Given the description of an element on the screen output the (x, y) to click on. 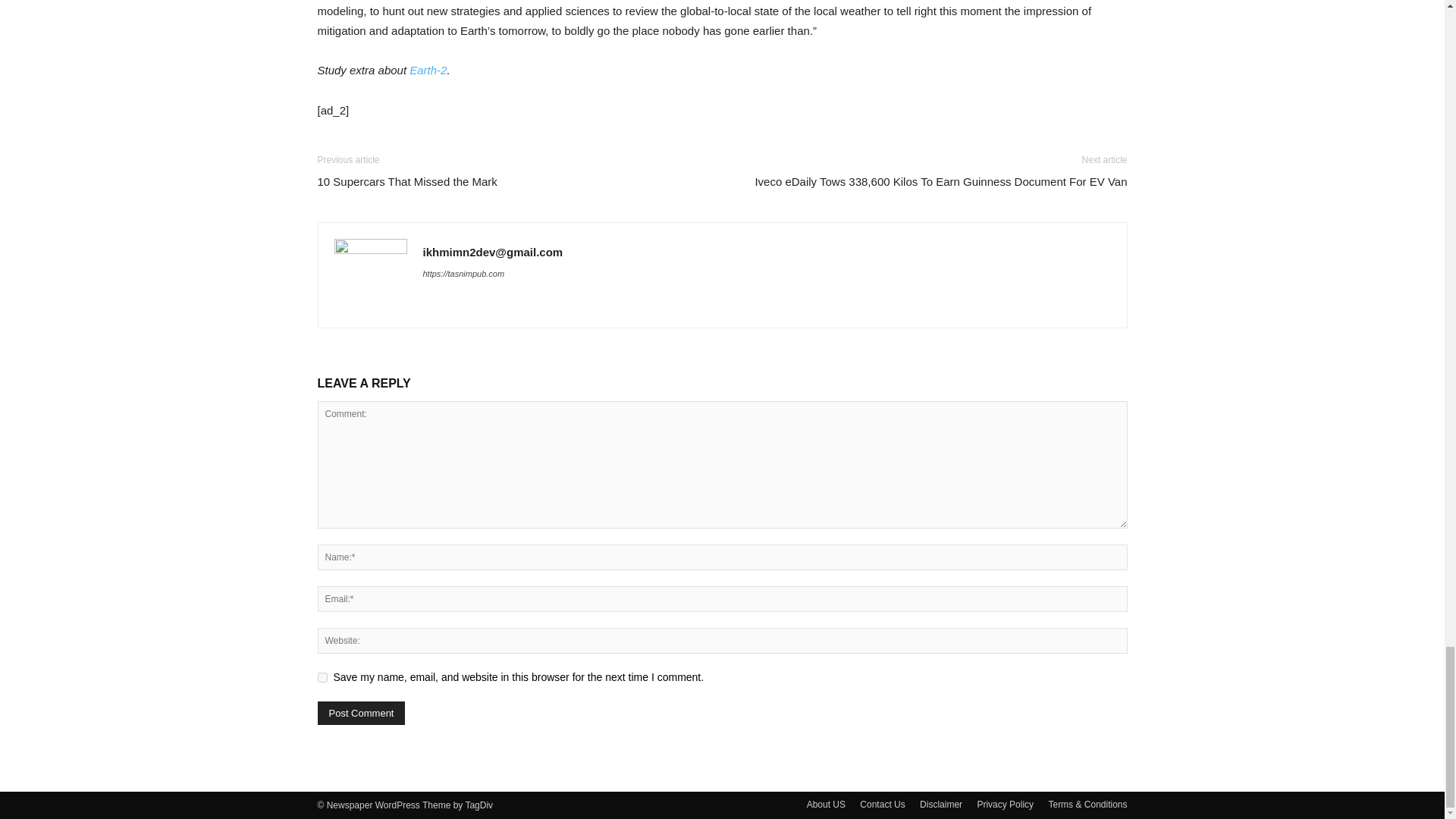
Privacy Policy (1004, 804)
Contact Us (882, 804)
yes (321, 677)
Disclaimer (941, 804)
About US (825, 804)
Post Comment (360, 712)
Earth-2 (427, 69)
10 Supercars That Missed the Mark (406, 181)
Post Comment (360, 712)
